Given the description of an element on the screen output the (x, y) to click on. 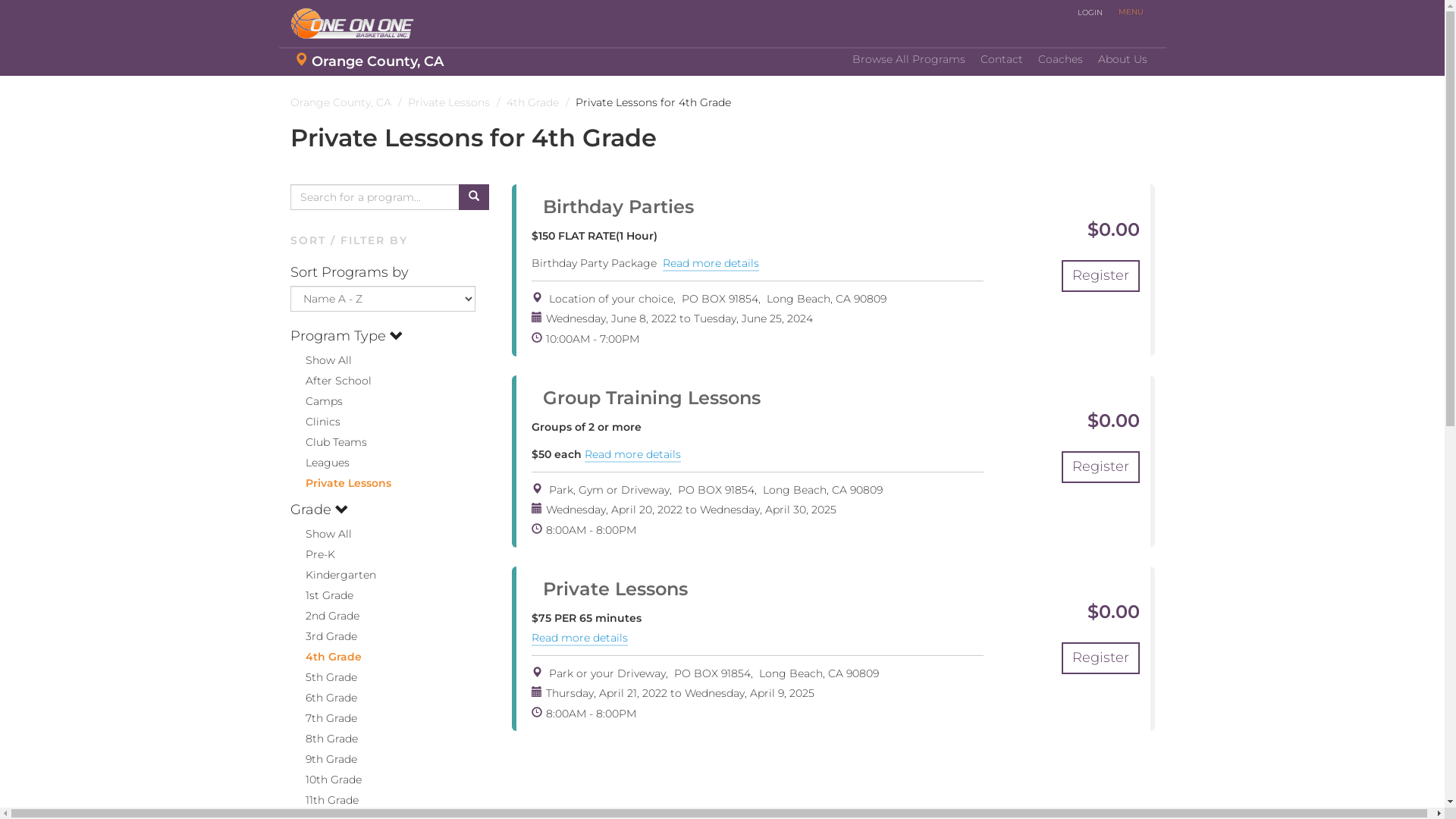
About Us Element type: text (1122, 59)
Register Element type: text (1100, 275)
Show All Element type: text (320, 533)
Register Element type: text (1100, 658)
Club Teams Element type: text (327, 441)
6th Grade Element type: text (322, 697)
Read more details
about Private Lessons Element type: text (579, 638)
Skip to main content Element type: text (0, 76)
Register Element type: text (1100, 467)
Contact Element type: text (1000, 59)
Camps Element type: text (315, 400)
11th Grade Element type: text (323, 799)
Clinics Element type: text (314, 421)
Orange County, CA Element type: text (368, 62)
Group Training Lessons Element type: text (645, 397)
Birthday Parties Element type: text (612, 206)
Apply Element type: text (24, 12)
5th Grade Element type: text (322, 676)
After School Element type: text (329, 380)
Kindergarten Element type: text (332, 574)
10th Grade Element type: text (324, 779)
MENU Element type: text (1130, 12)
8th Grade Element type: text (323, 738)
2nd Grade Element type: text (323, 615)
Read more details
about Group Training Lessons Element type: text (632, 454)
LOGIN Element type: text (1089, 12)
4th Grade Element type: text (324, 656)
3rd Grade Element type: text (322, 635)
Show All Element type: text (320, 359)
Pre-K Element type: text (311, 553)
1st Grade Element type: text (320, 594)
Leagues Element type: text (318, 462)
Read more details
about Birthday Parties Element type: text (710, 263)
9th Grade Element type: text (322, 758)
Private Lessons Element type: text (609, 588)
Coaches Element type: text (1059, 59)
Home Element type: hover (357, 23)
Browse All Programs Element type: text (908, 59)
Private Lessons Element type: text (339, 482)
7th Grade Element type: text (322, 717)
